Given the description of an element on the screen output the (x, y) to click on. 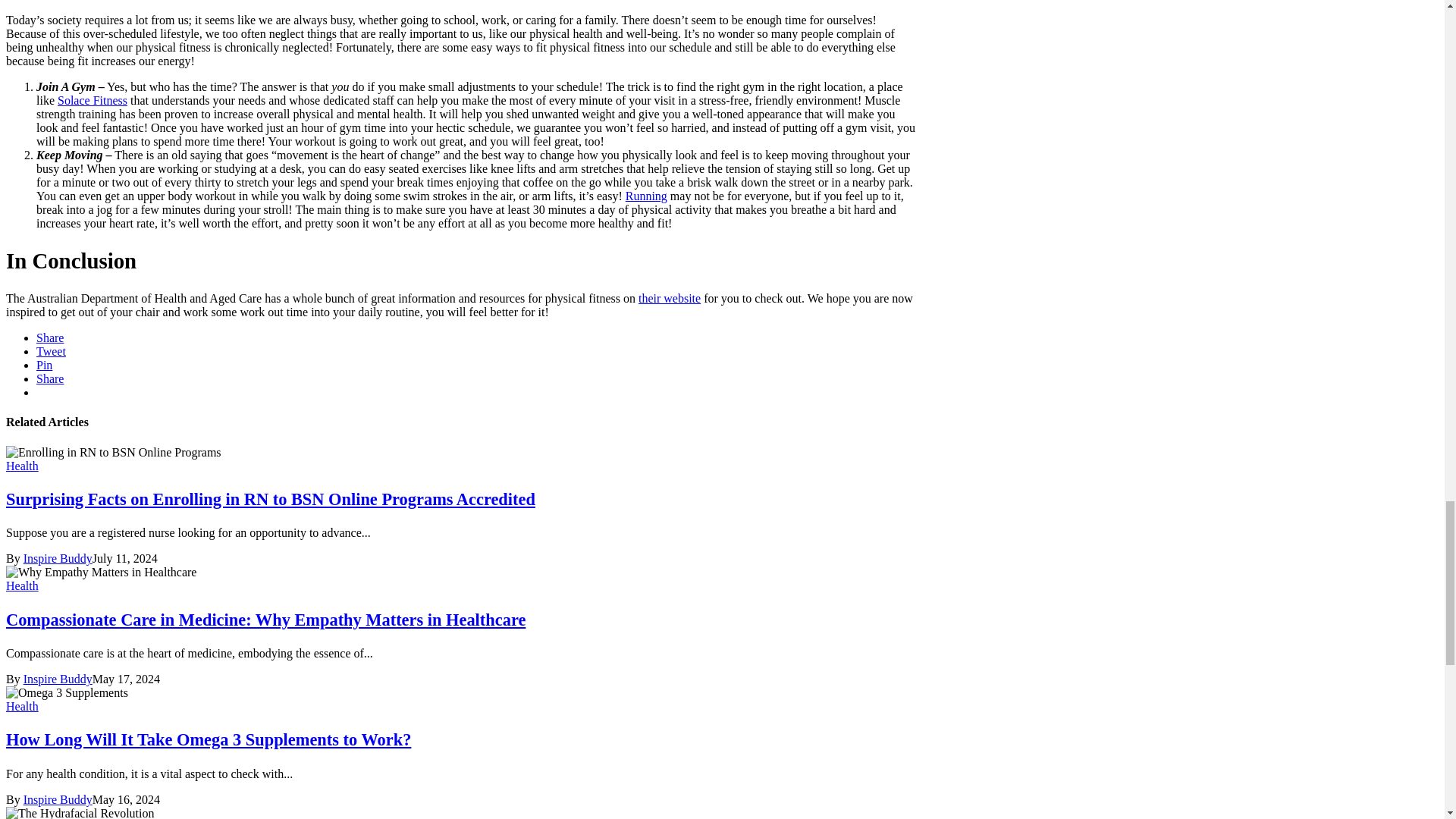
Posts by Inspire Buddy (58, 799)
Posts by Inspire Buddy (58, 678)
Posts by Inspire Buddy (58, 558)
